Given the description of an element on the screen output the (x, y) to click on. 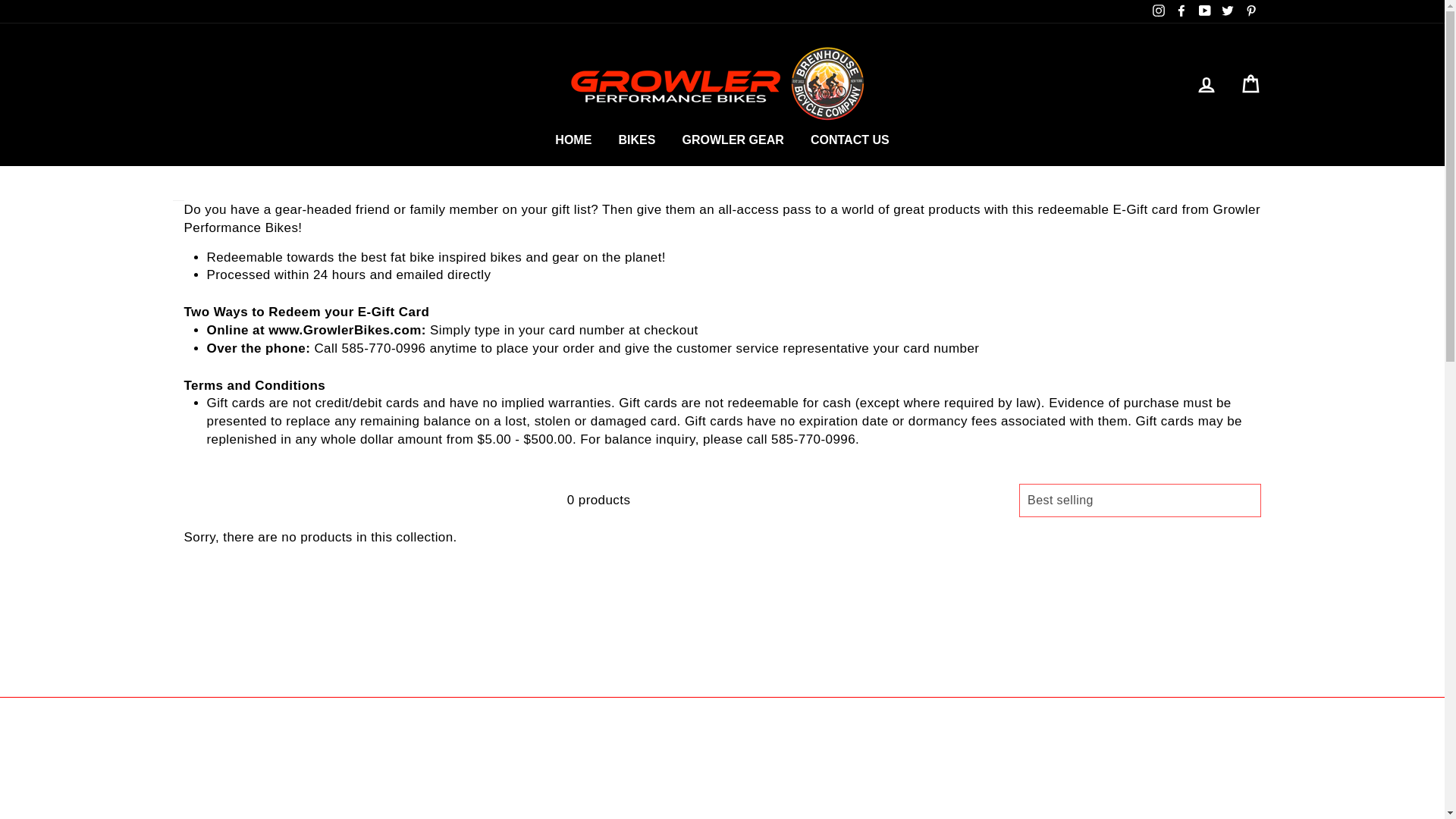
LOG IN (1205, 83)
Facebook (1181, 11)
GROWLER GEAR (732, 139)
Growler Bikes on Twitter (1227, 11)
Growler Bikes on Facebook (1181, 11)
BIKES (636, 139)
CART (1249, 83)
YouTube (1204, 11)
Pinterest (1250, 11)
Growler Bikes on Instagram (1158, 11)
Growler Bikes on Pinterest (1250, 11)
HOME (572, 139)
CONTACT US (850, 139)
Instagram (1158, 11)
